Given the description of an element on the screen output the (x, y) to click on. 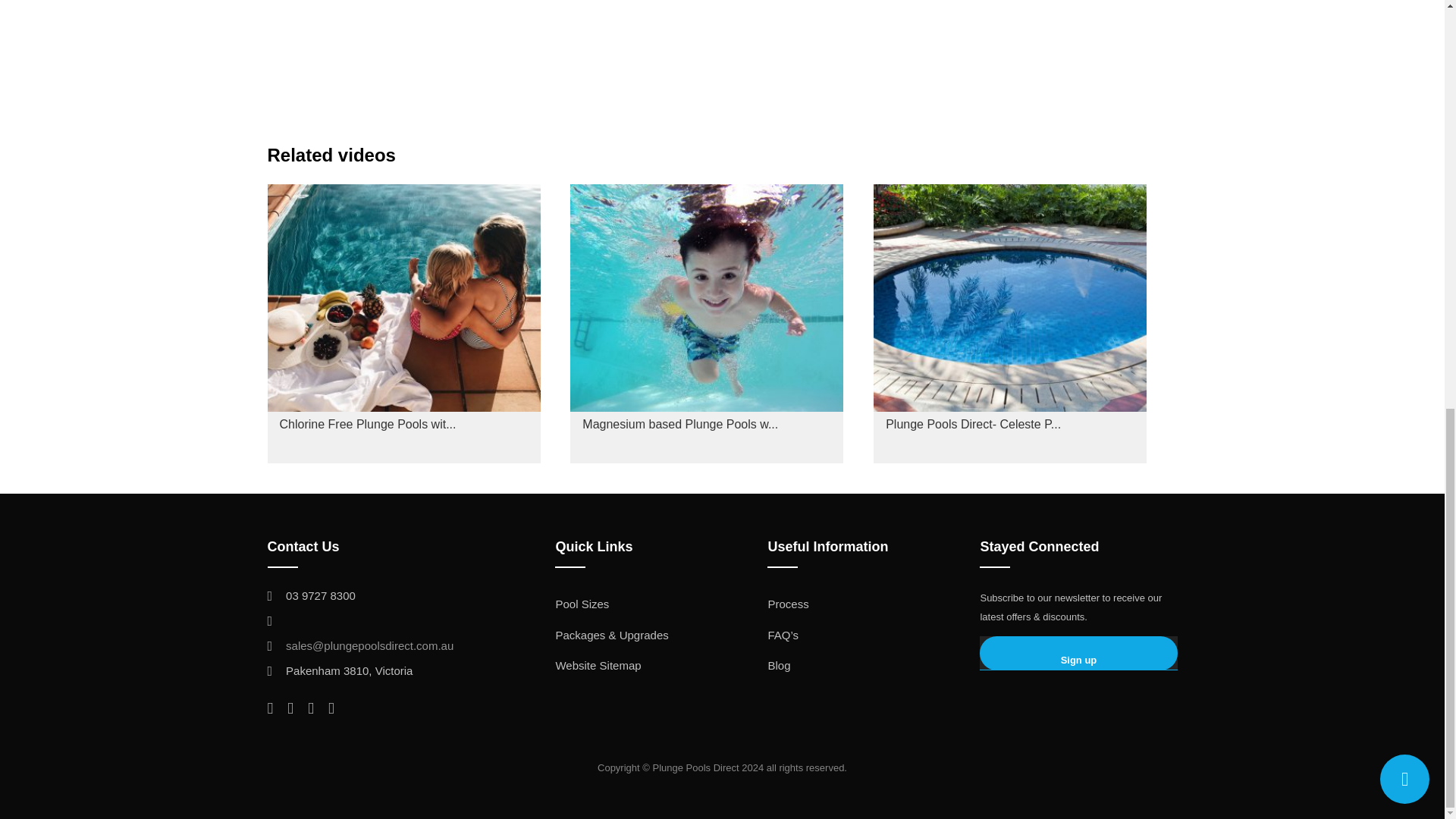
Sign up (1077, 653)
Magnesium based Plunge Pools with MagnaPool (706, 323)
